Given the description of an element on the screen output the (x, y) to click on. 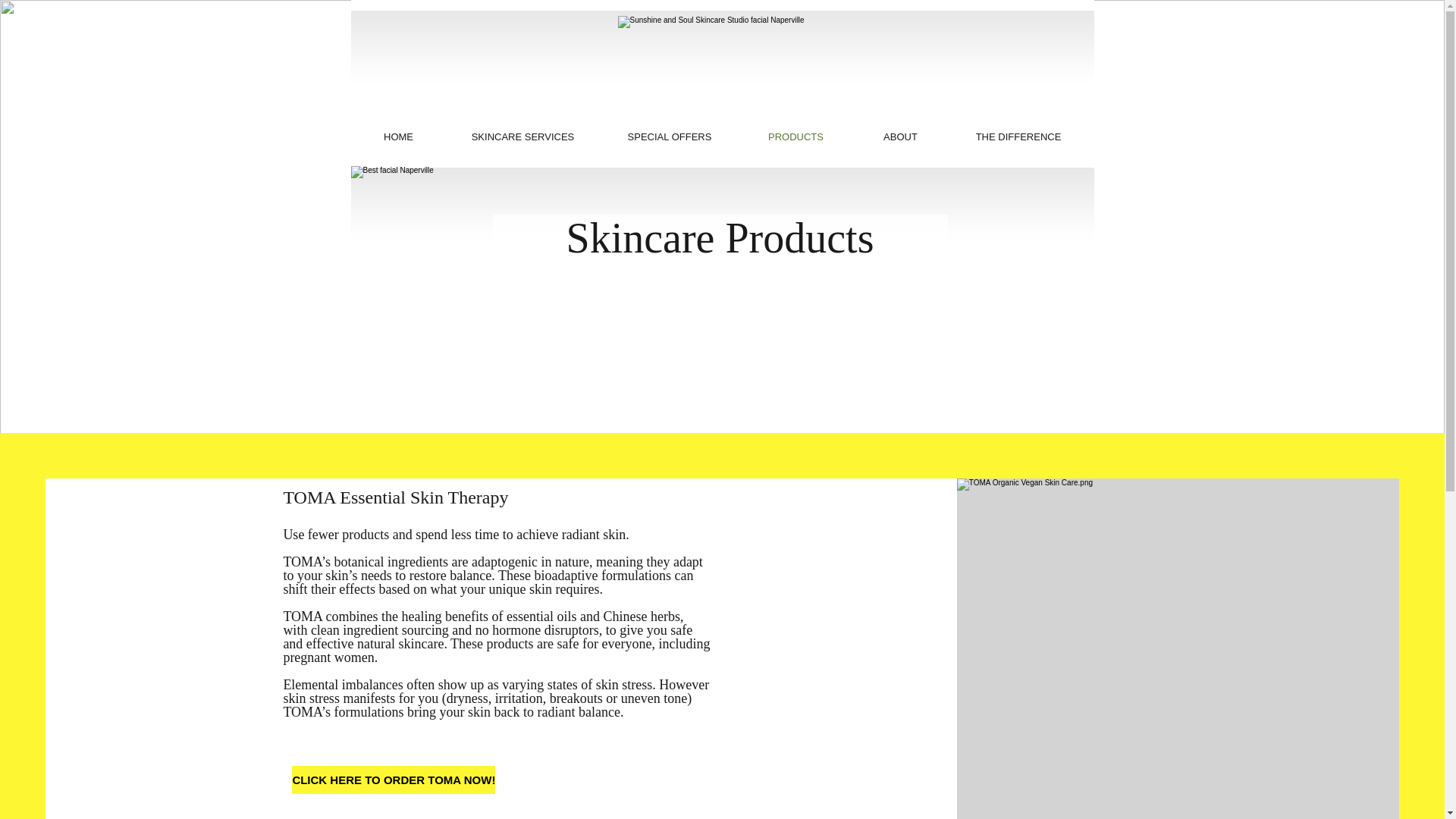
HOME (398, 136)
THE DIFFERENCE (1017, 136)
ABOUT (899, 136)
SPECIAL OFFERS (669, 136)
CLICK HERE TO ORDER TOMA NOW! (393, 779)
PRODUCTS (794, 136)
SKINCARE SERVICES (522, 136)
